Given the description of an element on the screen output the (x, y) to click on. 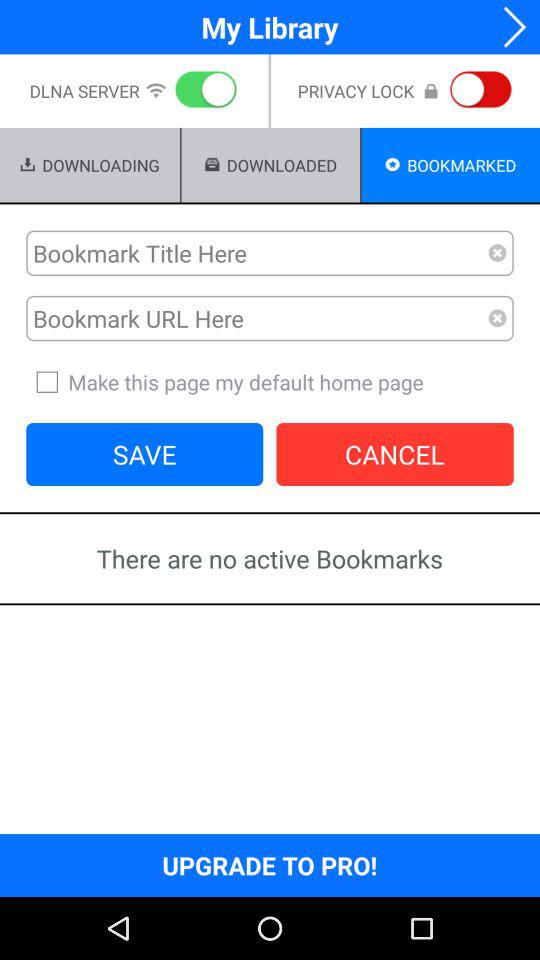
launch the icon to the left of cancel button (144, 454)
